Given the description of an element on the screen output the (x, y) to click on. 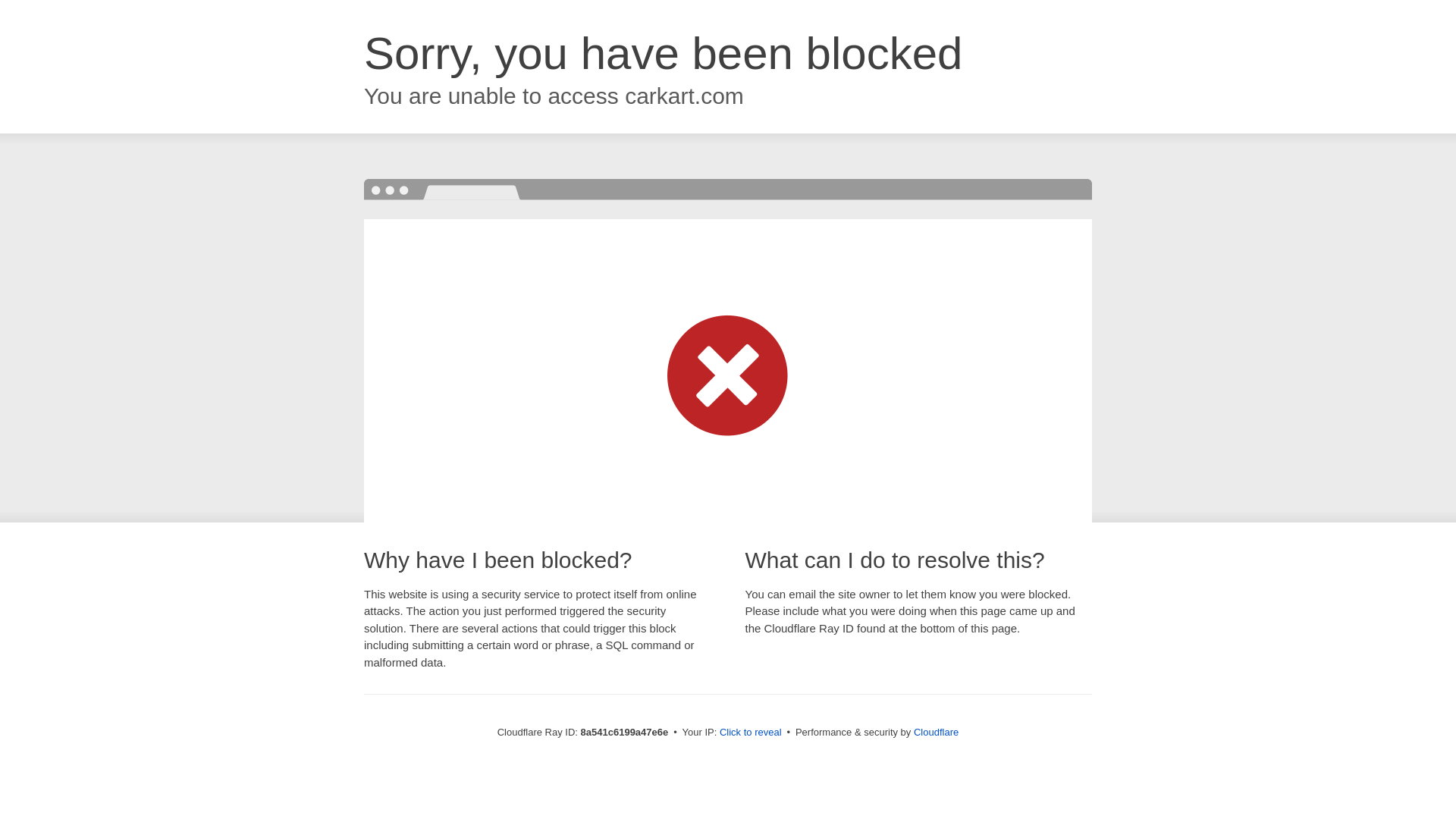
Click to reveal (750, 732)
Cloudflare (936, 731)
